Given the description of an element on the screen output the (x, y) to click on. 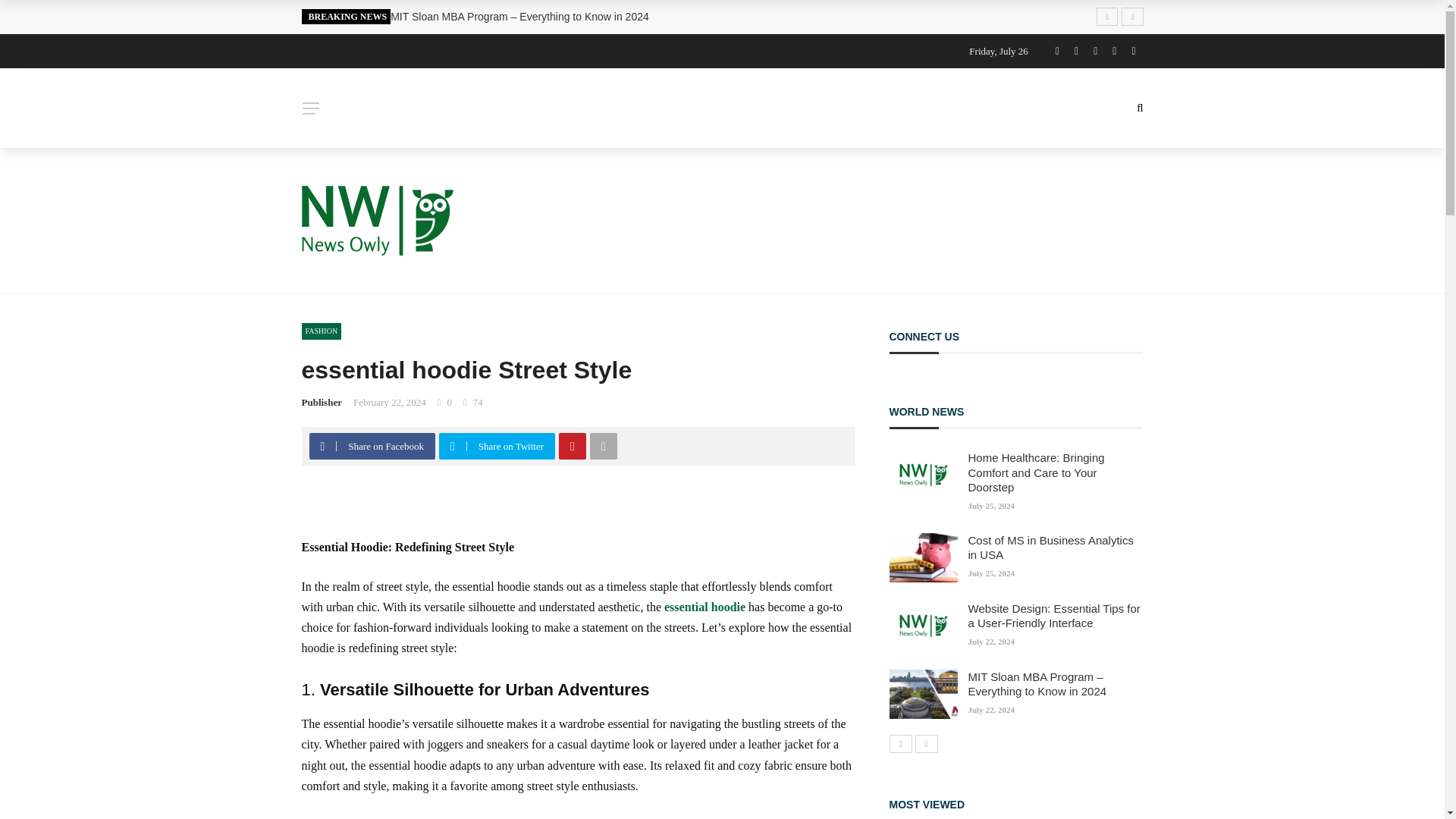
essential hoodie (704, 606)
Share on Twitter (499, 446)
FASHION (321, 330)
Share on Facebook (373, 446)
Publisher (321, 401)
